Given the description of an element on the screen output the (x, y) to click on. 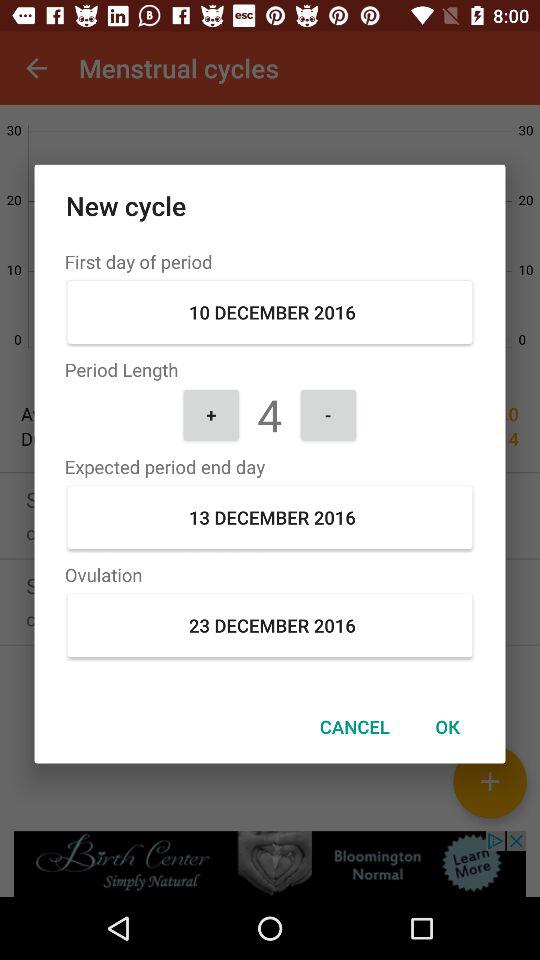
choose icon below the period length (328, 414)
